Given the description of an element on the screen output the (x, y) to click on. 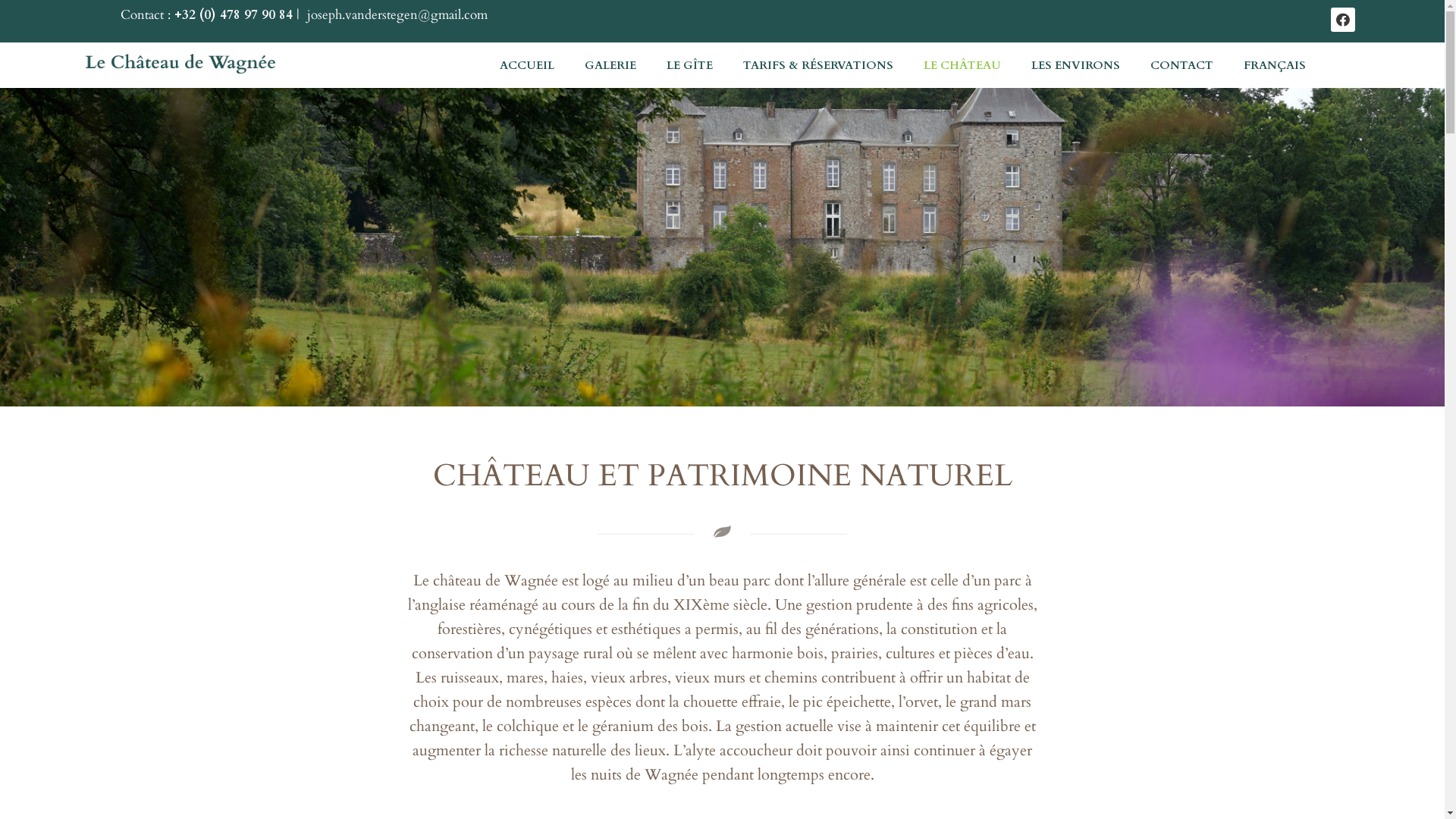
LES ENVIRONS Element type: text (1075, 65)
GALERIE Element type: text (610, 65)
CONTACT Element type: text (1181, 65)
ACCUEIL Element type: text (526, 65)
